Given the description of an element on the screen output the (x, y) to click on. 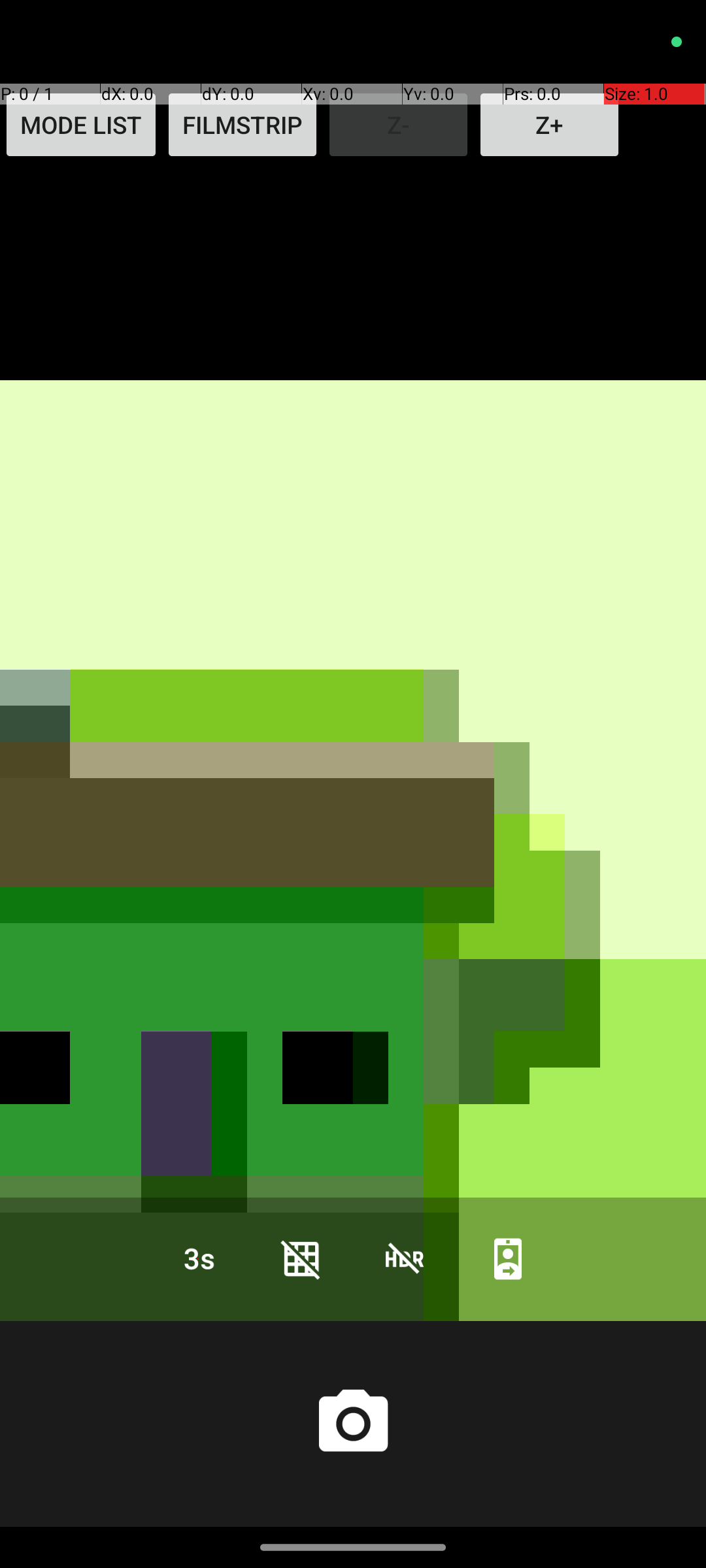
Countdown timer duration is set to 3 seconds Element type: android.widget.ImageButton (197, 1258)
Grid lines off Element type: android.widget.ImageButton (301, 1258)
HDR off Element type: android.widget.ImageButton (404, 1258)
Front camera Element type: android.widget.ImageButton (507, 1258)
